Given the description of an element on the screen output the (x, y) to click on. 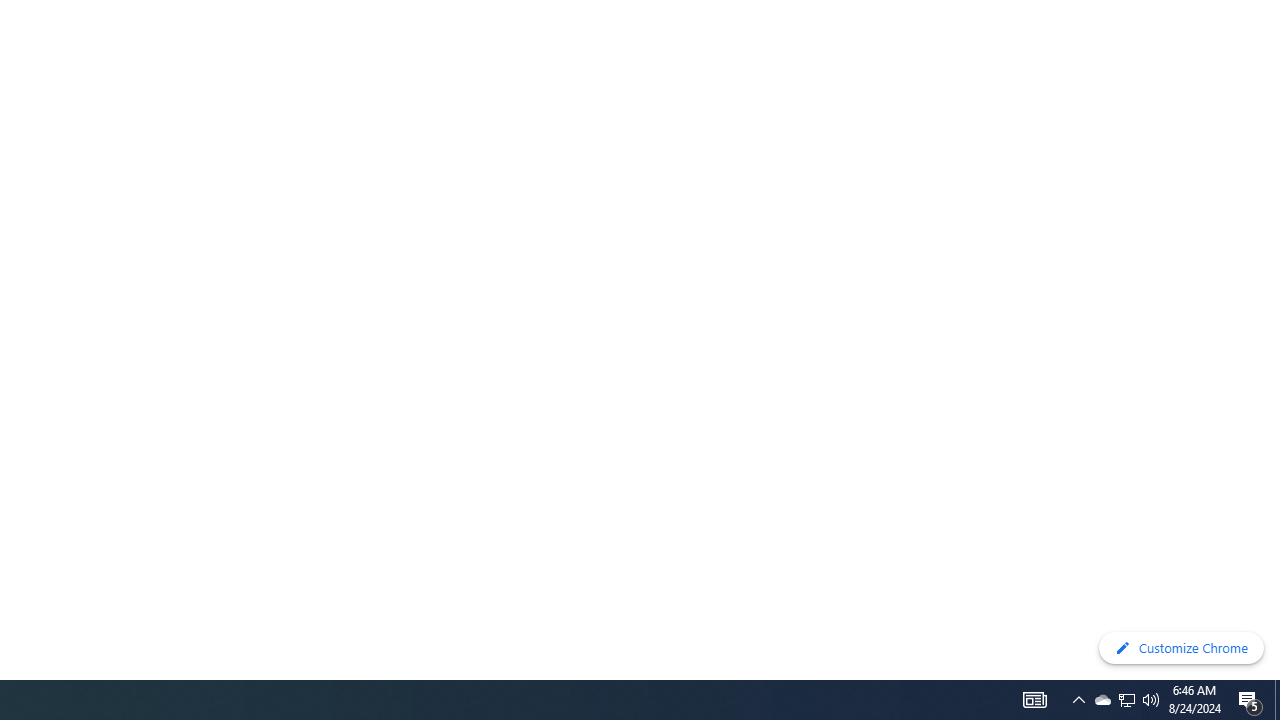
Customize Chrome (1181, 647)
